Given the description of an element on the screen output the (x, y) to click on. 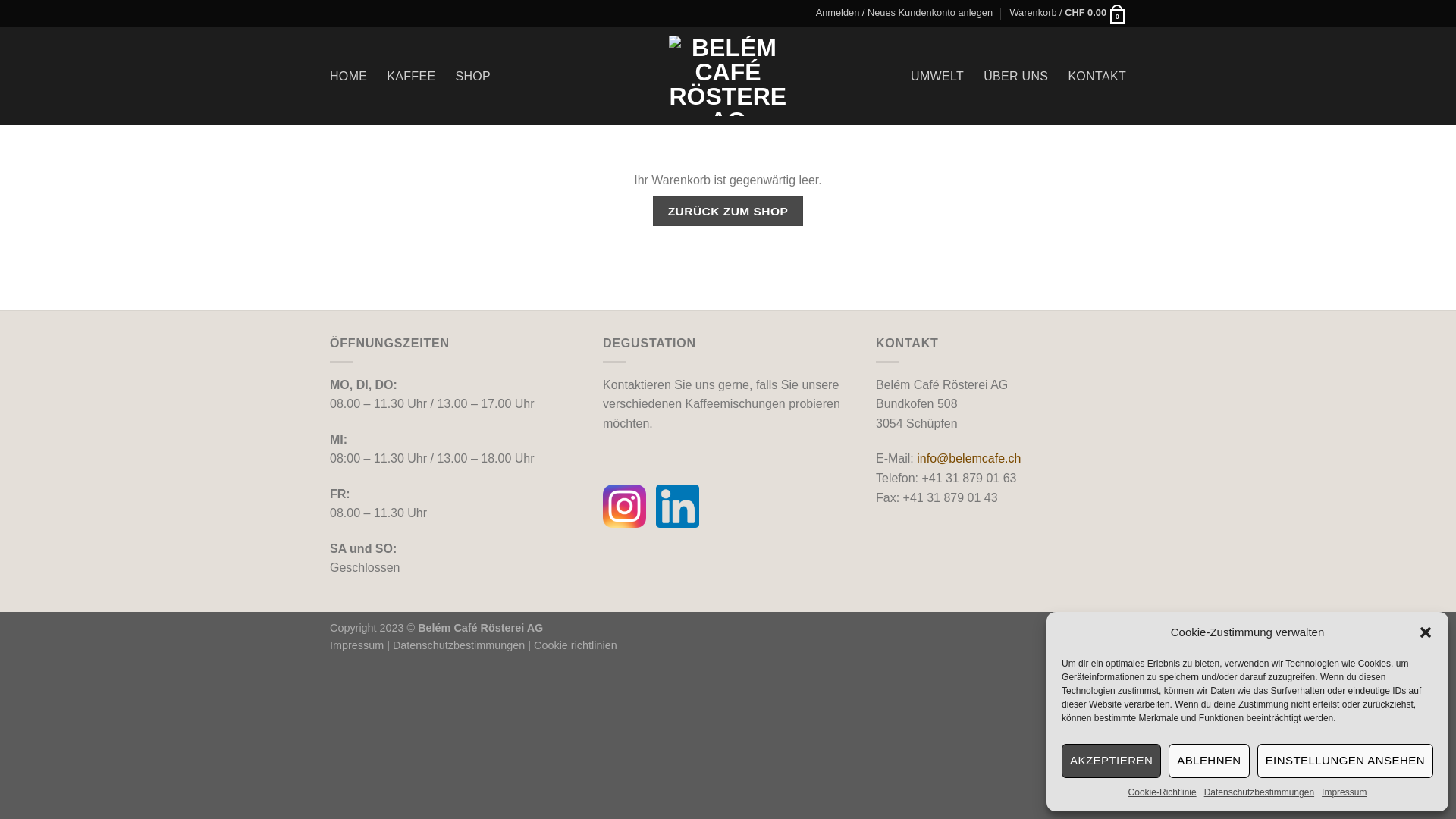
KONTAKT Element type: text (1096, 75)
SHOP Element type: text (472, 75)
Cookie-Richtlinie Element type: text (1162, 792)
ABLEHNEN Element type: text (1208, 760)
AKZEPTIEREN Element type: text (1111, 760)
KAFFEE Element type: text (410, 75)
Warenkorb / CHF 0.00
0 Element type: text (1067, 12)
Datenschutzbestimmungen Element type: text (459, 645)
EINSTELLUNGEN ANSEHEN Element type: text (1345, 760)
Cookie richtlinien Element type: text (575, 645)
Anmelden / Neues Kundenkonto anlegen Element type: text (903, 12)
Impressum Element type: text (1343, 792)
HOME Element type: text (348, 75)
Datenschutzbestimmungen Element type: text (1259, 792)
Impressum Element type: text (356, 645)
info@belemcafe.ch Element type: text (968, 457)
UMWELT Element type: text (936, 75)
